Given the description of an element on the screen output the (x, y) to click on. 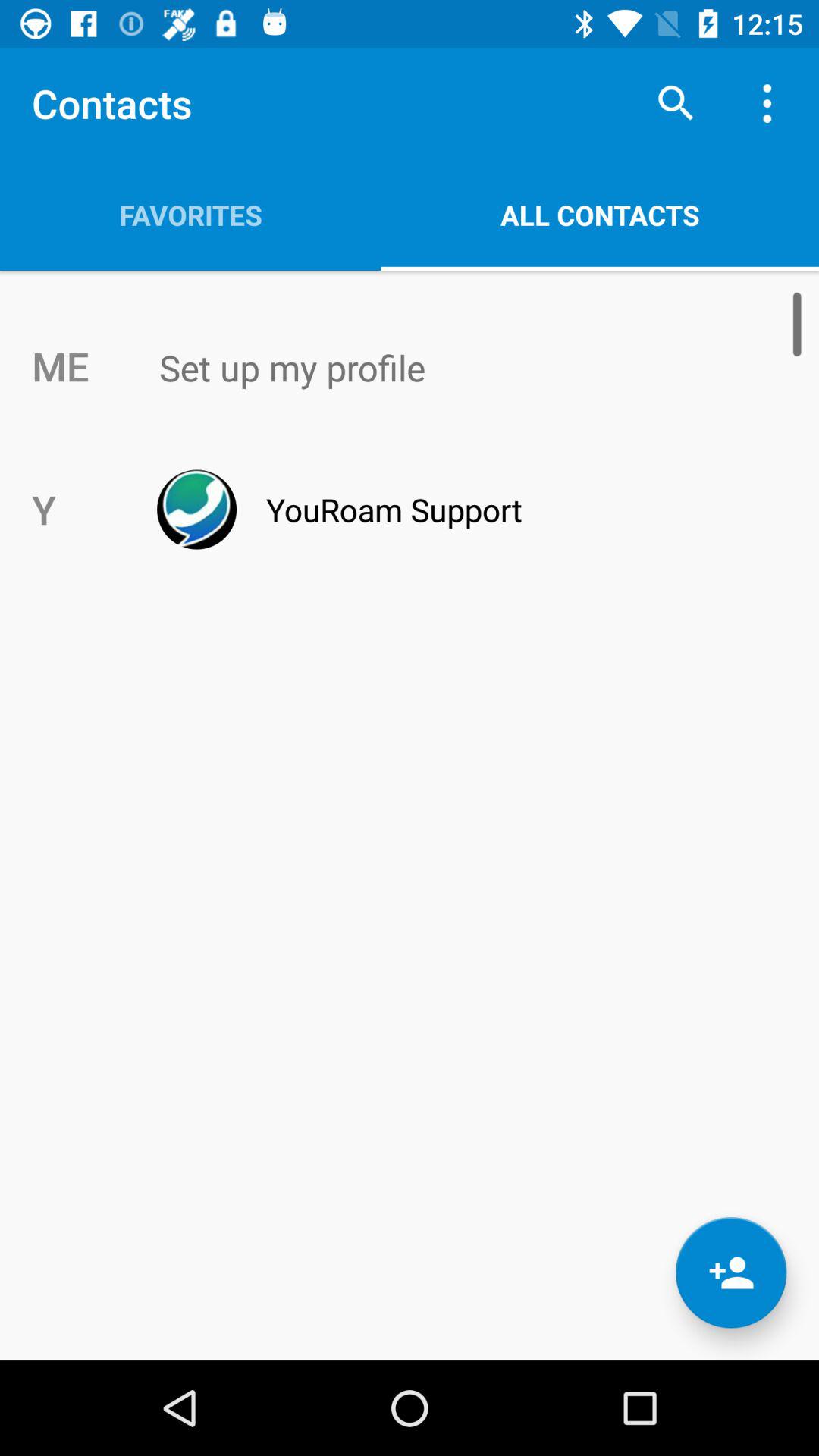
click the icon at the bottom right corner (731, 1272)
